Given the description of an element on the screen output the (x, y) to click on. 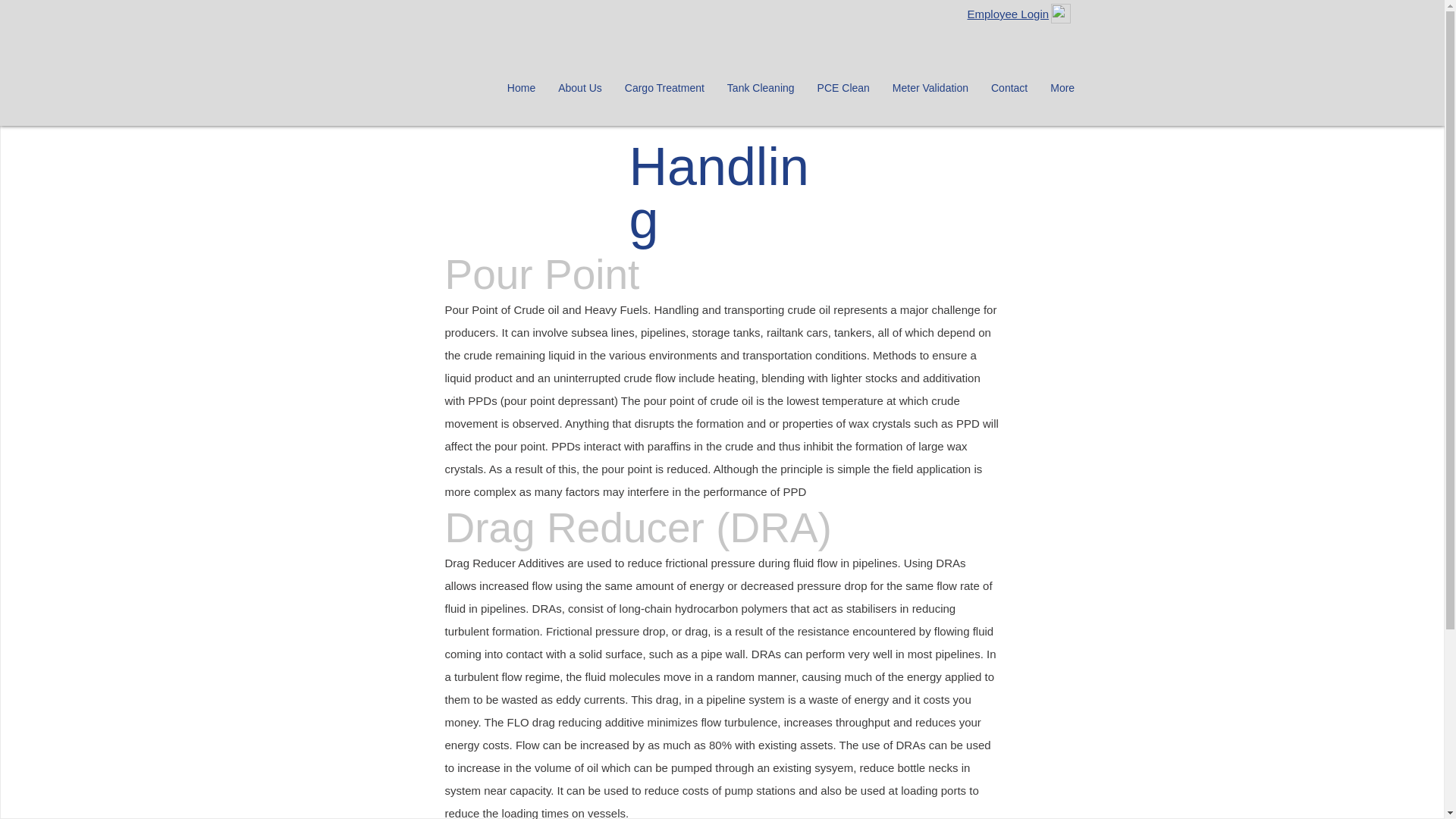
Cargo Treatment (664, 94)
Employee Login (1008, 13)
Home (521, 94)
Contact (1009, 94)
Tank Cleaning (761, 94)
Meter Validation (929, 94)
About Us (579, 94)
PCE Clean (843, 94)
